Given the description of an element on the screen output the (x, y) to click on. 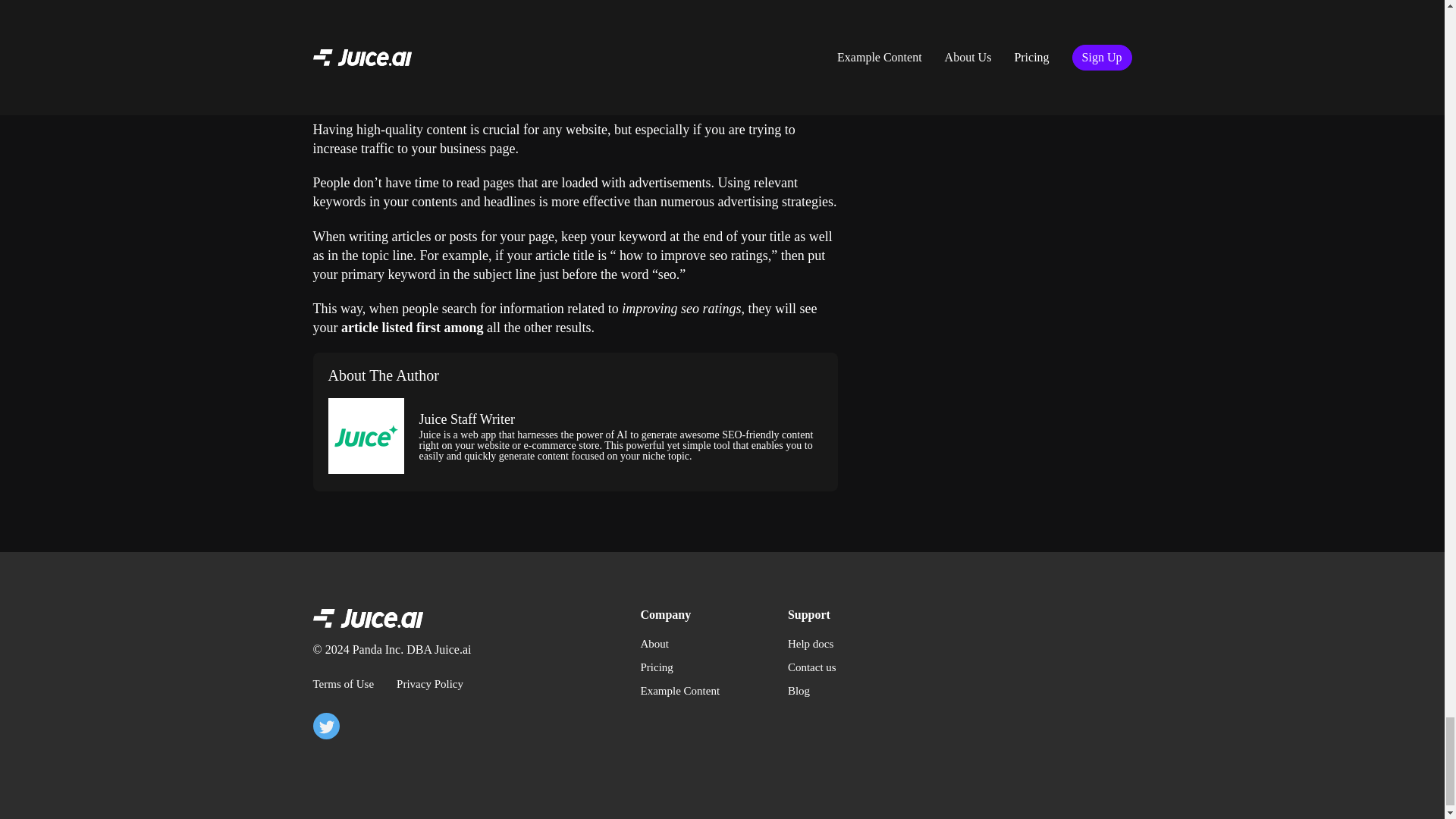
Juice Staff Writer (467, 418)
Privacy Policy (429, 684)
Terms of Use (343, 684)
